Given the description of an element on the screen output the (x, y) to click on. 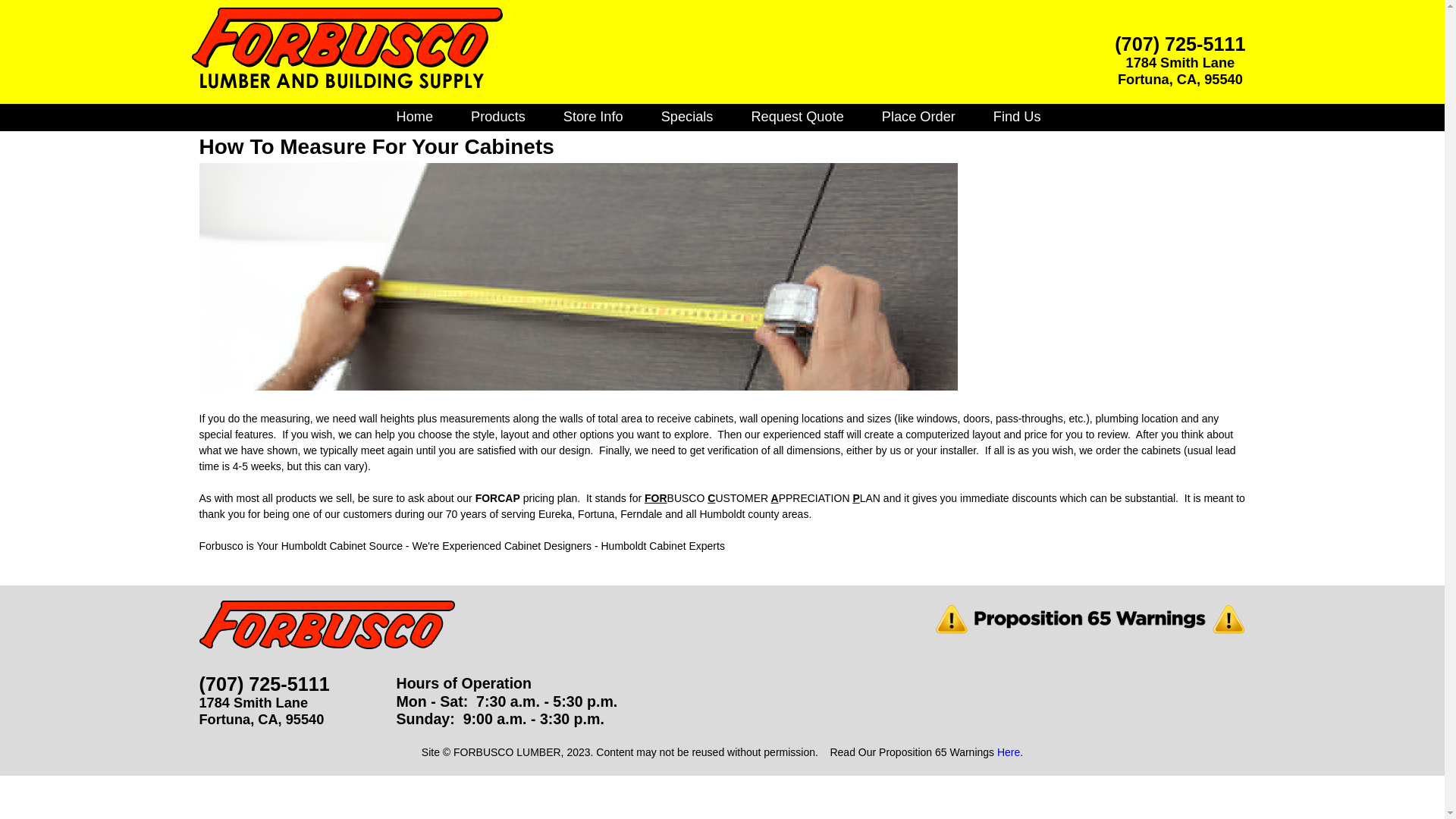
Specials (687, 116)
Find Us (1017, 116)
Products (497, 116)
Store Info (593, 116)
Request Quote (797, 116)
Place Order (918, 116)
Here. (1010, 752)
Home (414, 116)
